Given the description of an element on the screen output the (x, y) to click on. 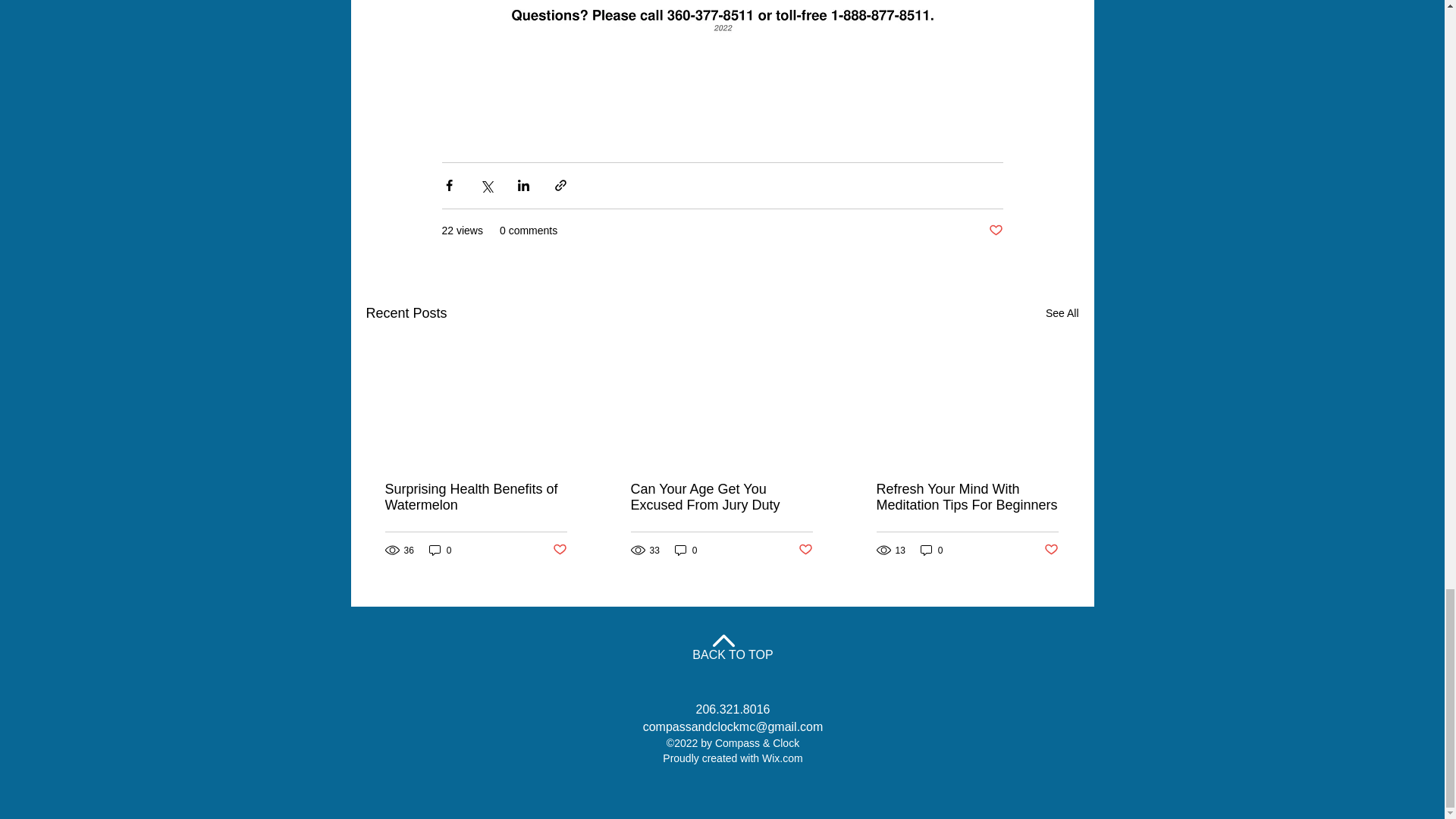
Post not marked as liked (995, 230)
